Given the description of an element on the screen output the (x, y) to click on. 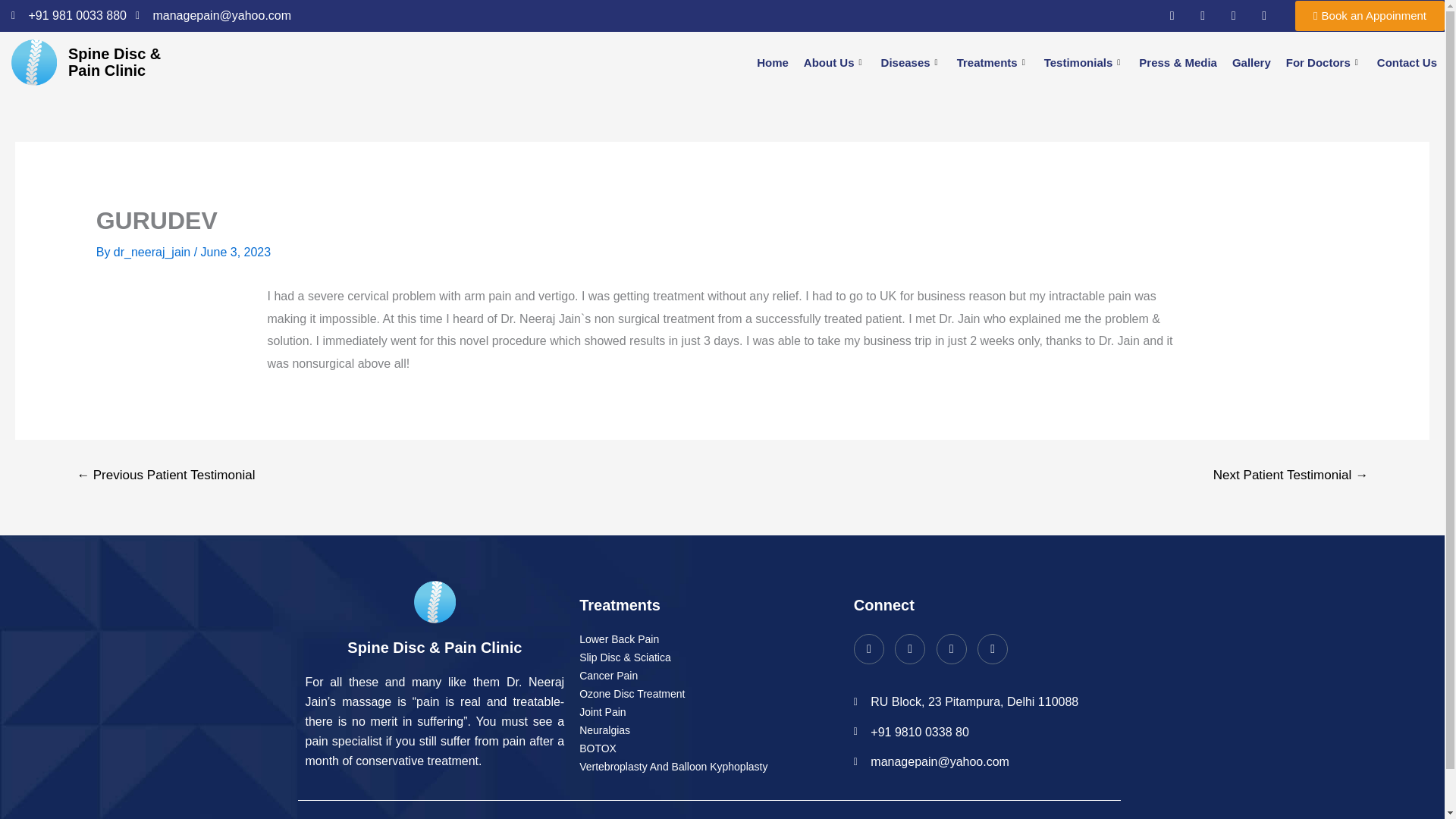
About Us (834, 62)
Diseases (911, 62)
Home (772, 62)
Book an Appoinment (1369, 15)
Testimonials (1084, 62)
For Doctors (1324, 62)
Gallery (1251, 62)
Treatments (992, 62)
